Given the description of an element on the screen output the (x, y) to click on. 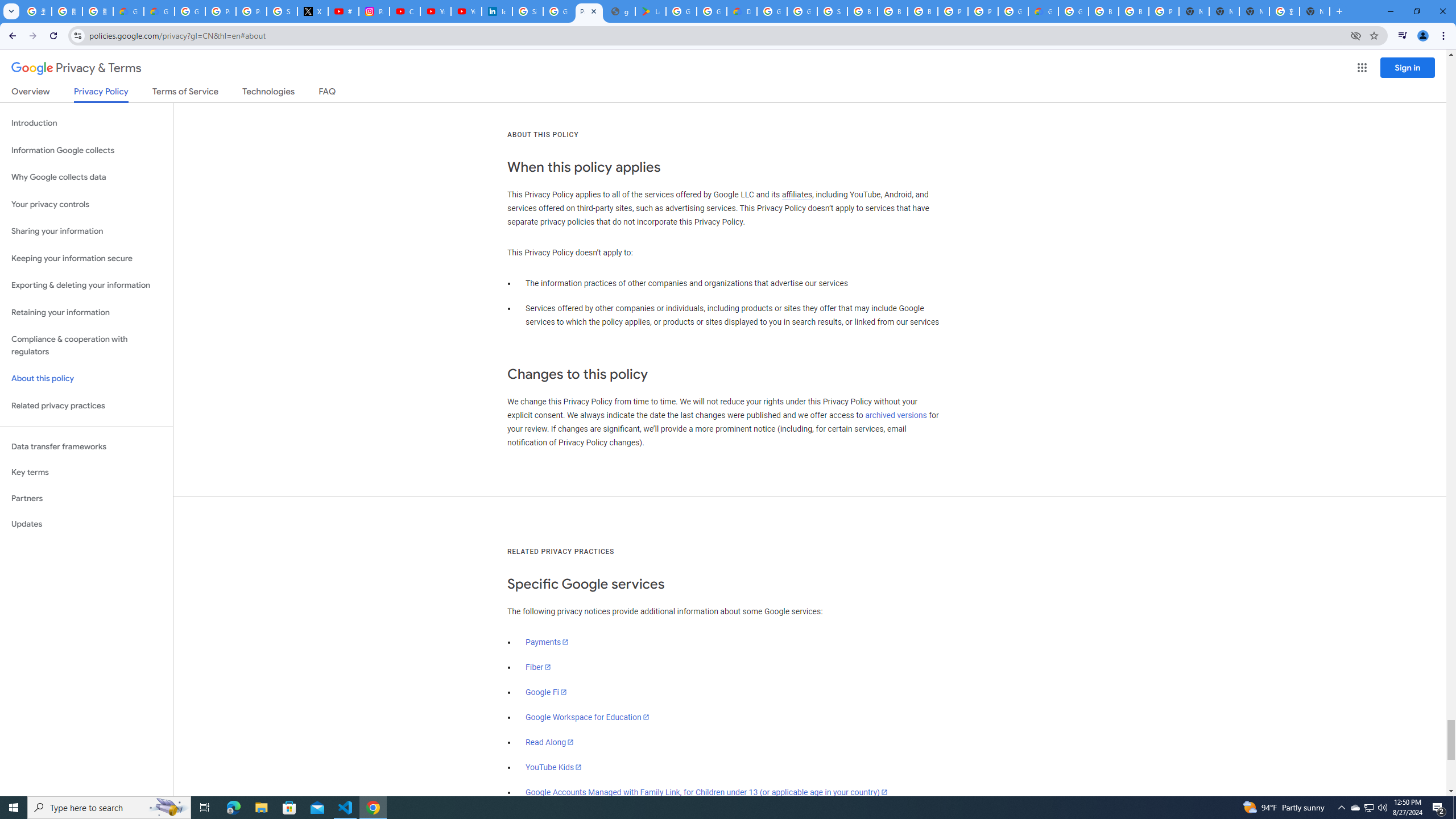
X (312, 11)
